Given the description of an element on the screen output the (x, y) to click on. 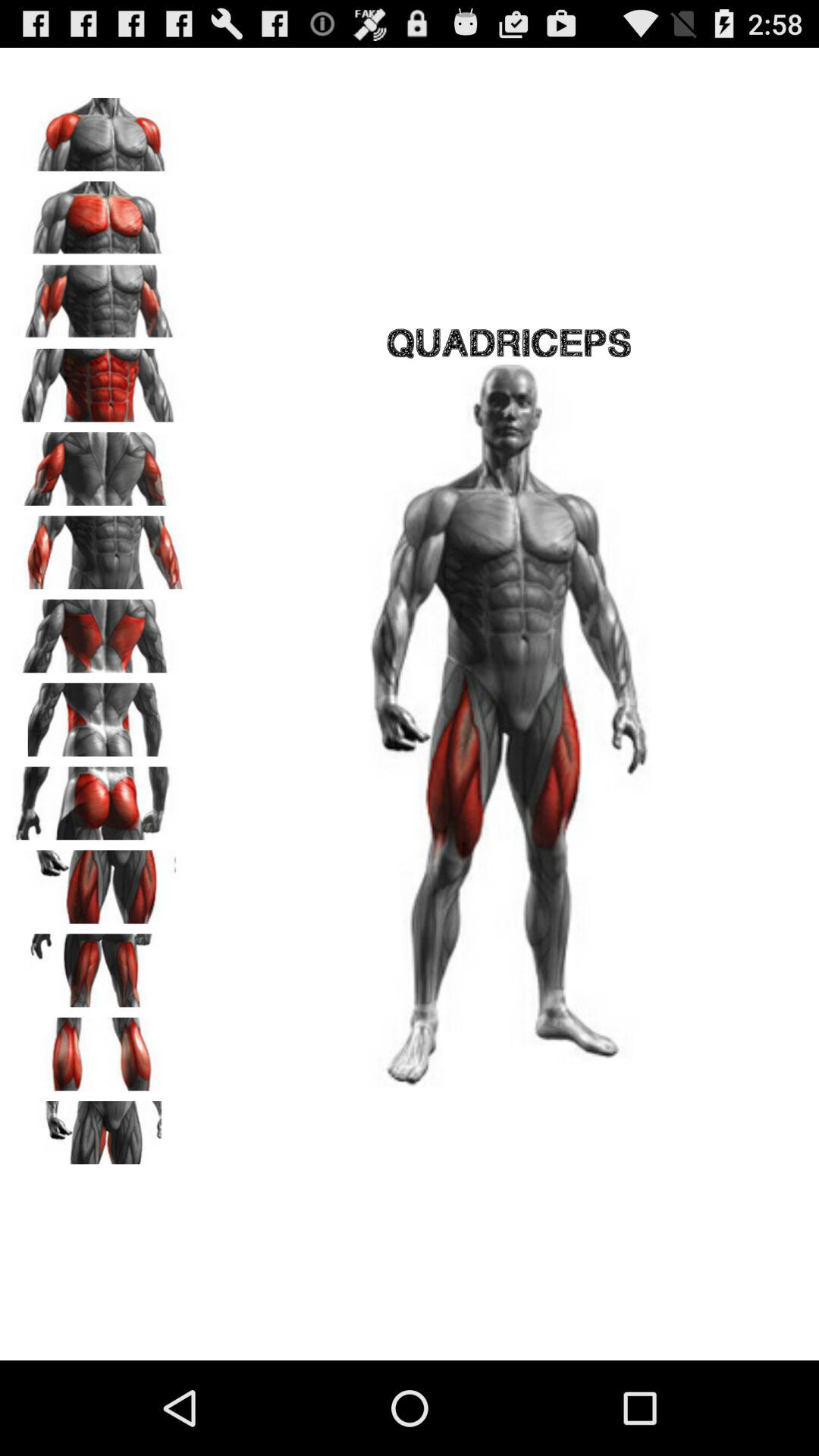
select hamstrings (99, 1048)
